Given the description of an element on the screen output the (x, y) to click on. 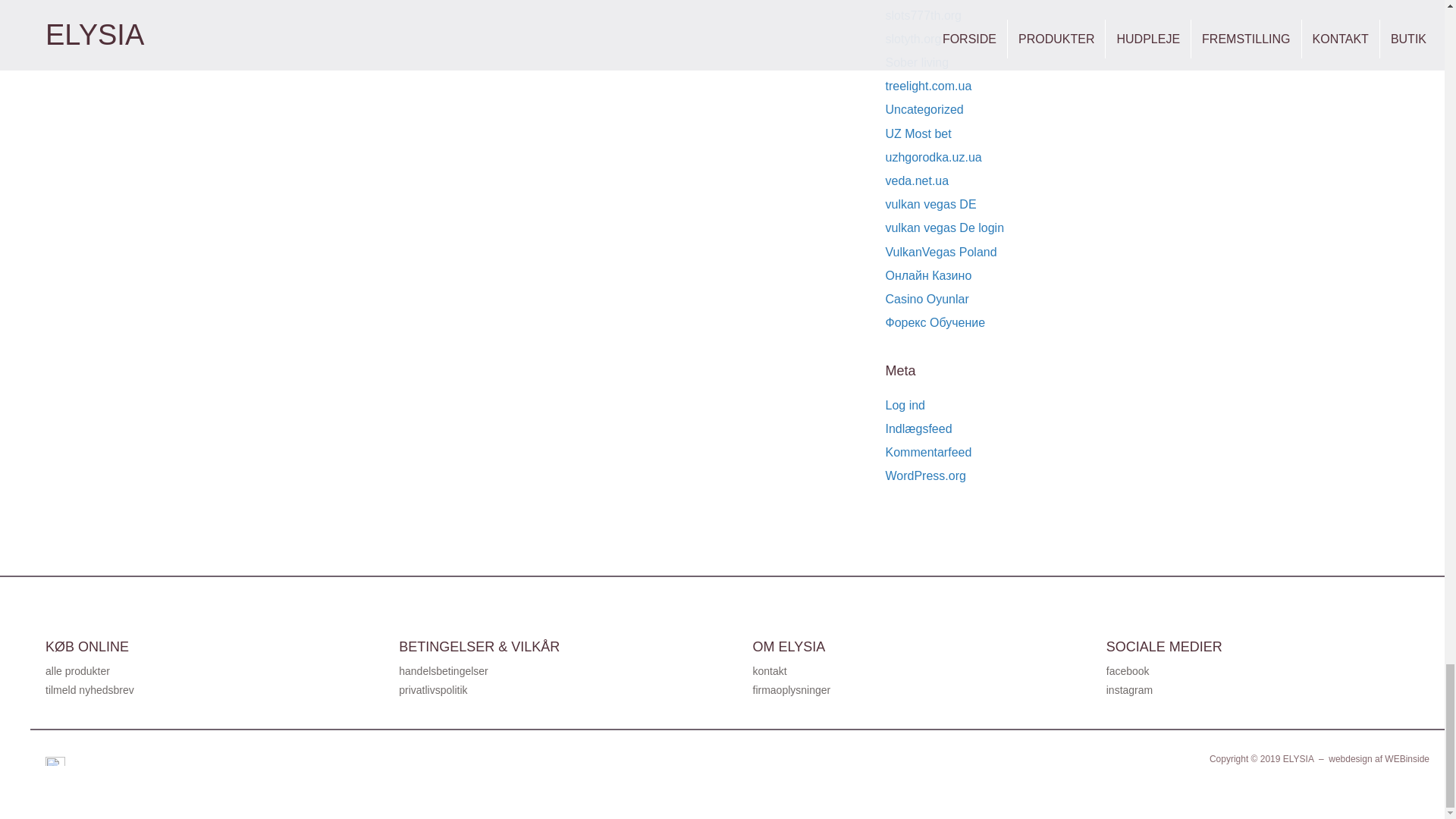
handelsbetingelser (442, 671)
facebook (1128, 671)
firmaoplysninger (790, 689)
alle produkter (77, 671)
kontakt (769, 671)
privatlivspolitik (432, 689)
tilmeld nyhedsbrev (89, 689)
instagram (1129, 689)
